Given the description of an element on the screen output the (x, y) to click on. 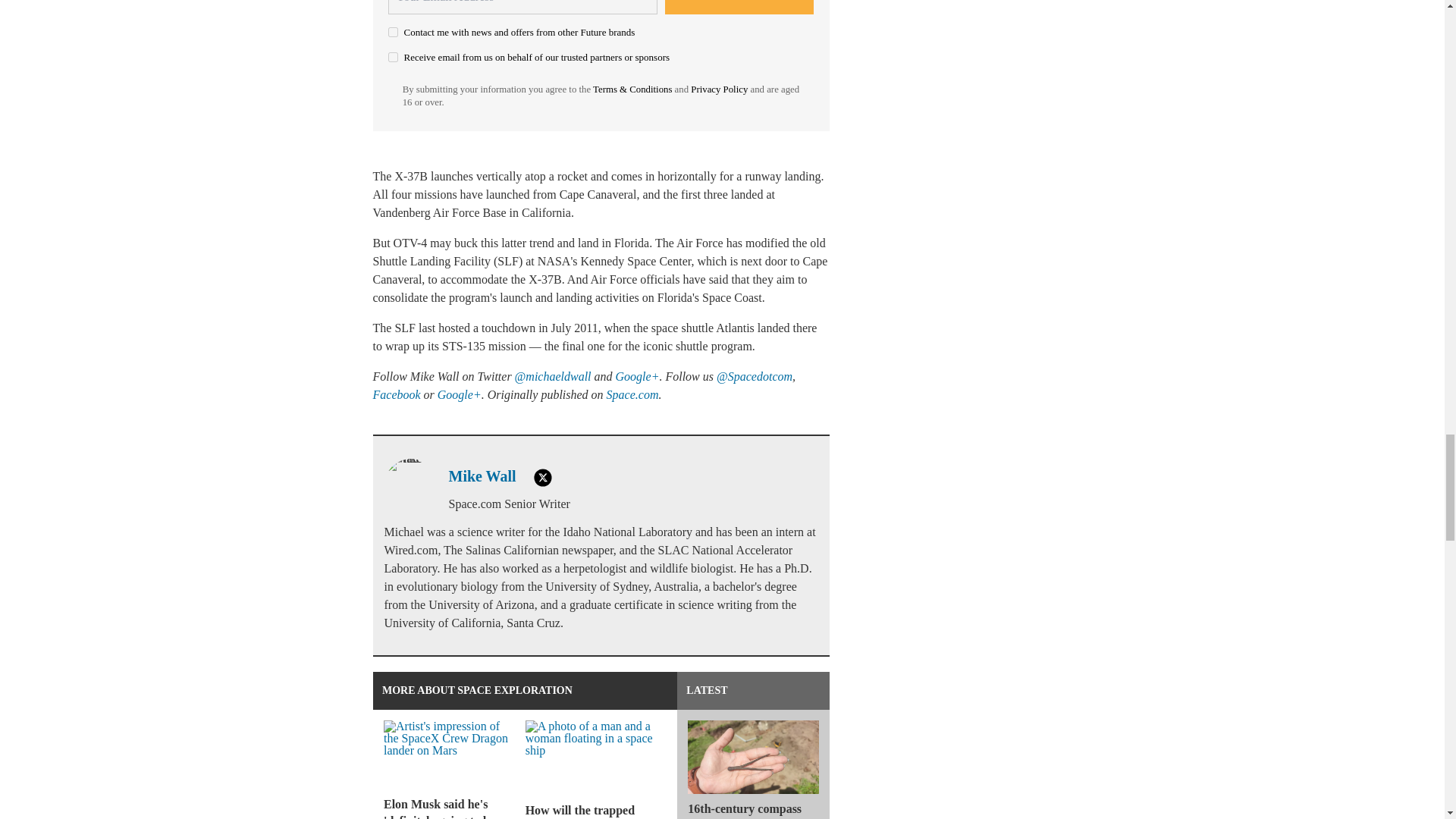
on (392, 31)
on (392, 57)
Sign me up (739, 7)
